Given the description of an element on the screen output the (x, y) to click on. 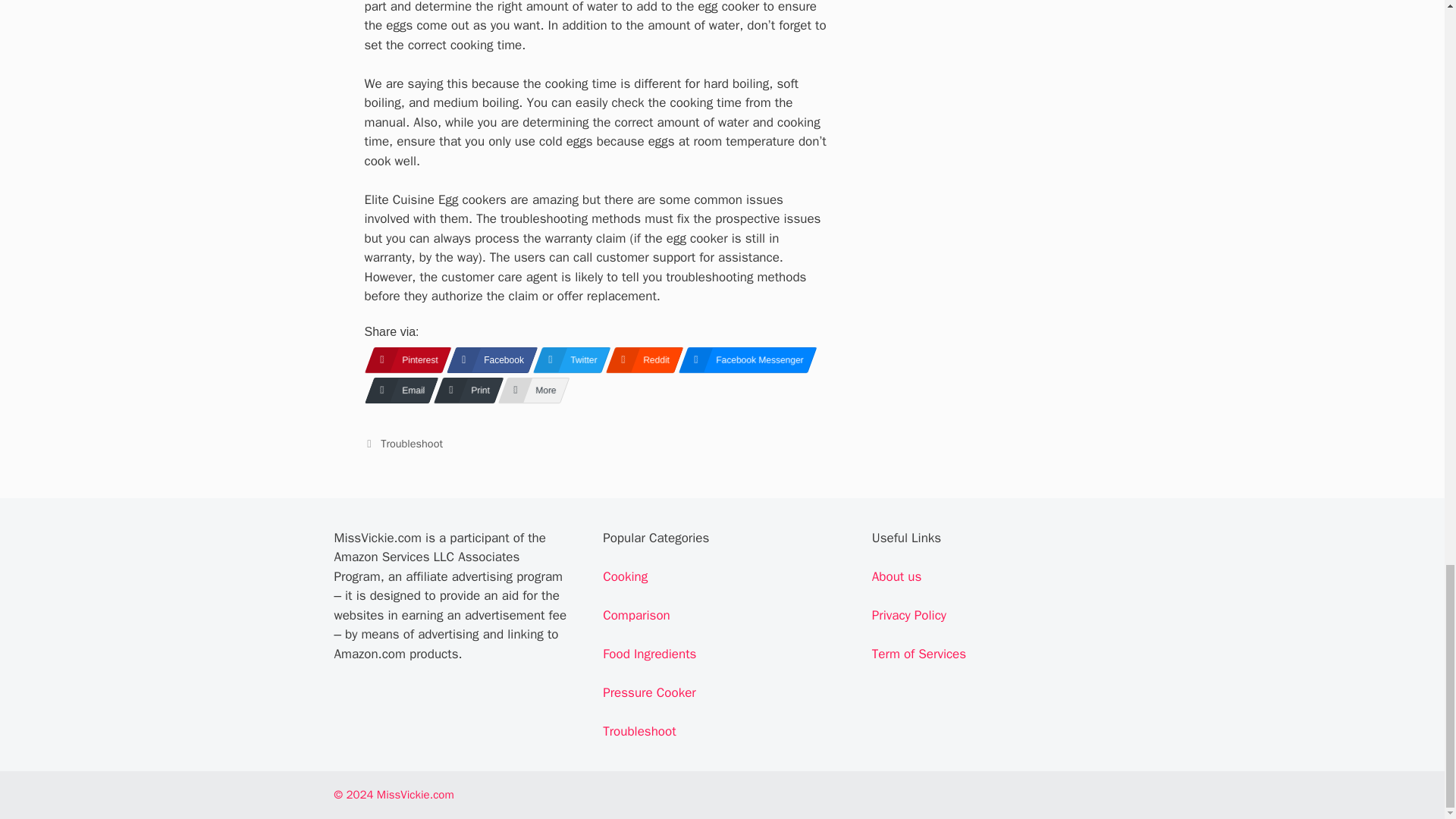
Twitter (566, 360)
Troubleshoot (411, 443)
Email (396, 390)
Print (464, 390)
Pinterest (402, 360)
Reddit (639, 360)
Facebook Messenger (743, 360)
Facebook (487, 360)
More (528, 390)
